Given the description of an element on the screen output the (x, y) to click on. 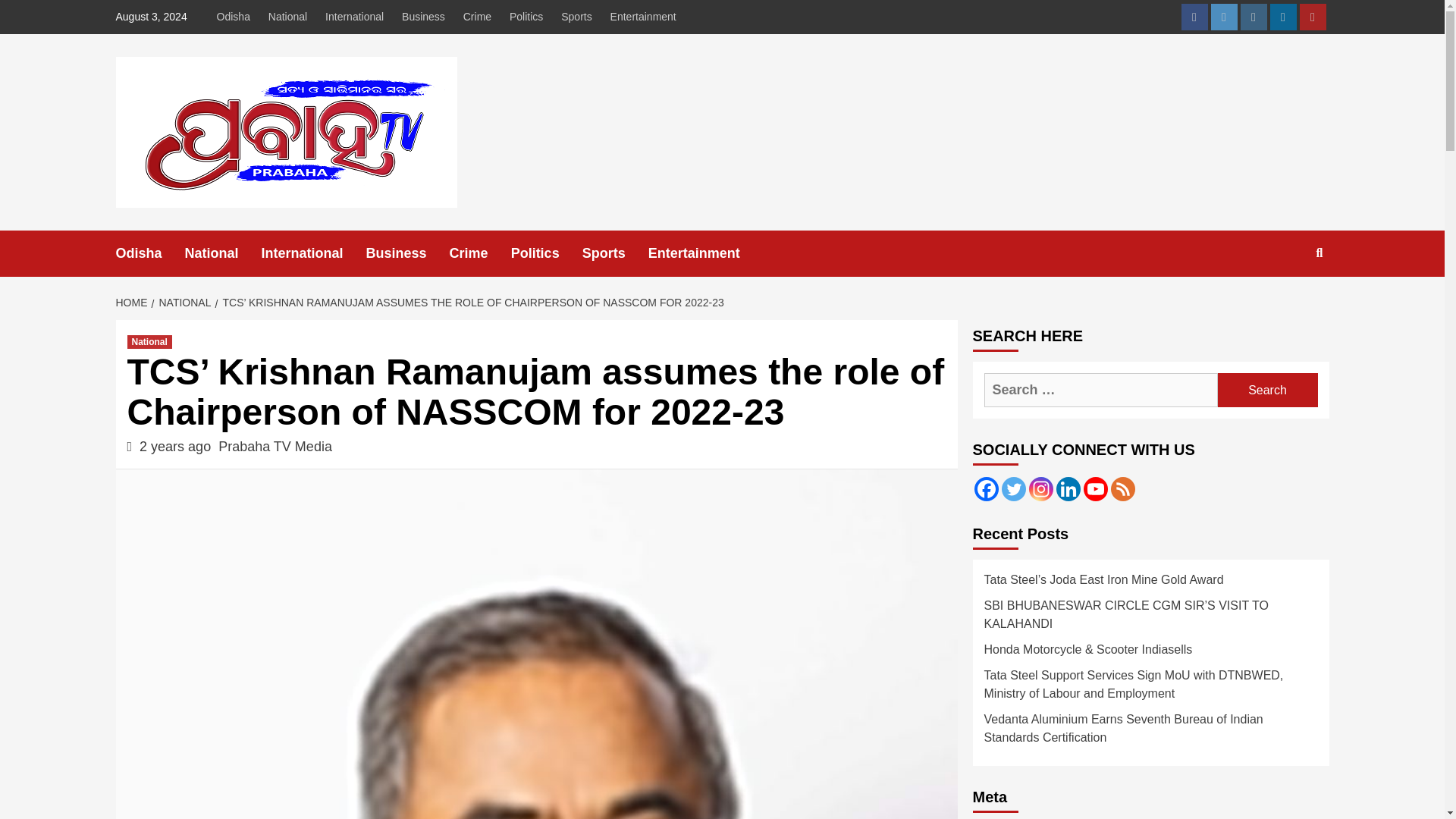
LinkedIN (1282, 17)
Instagram (1253, 17)
National (149, 341)
International (314, 253)
National (287, 17)
Entertainment (643, 17)
Politics (546, 253)
Youtube (1313, 17)
Search (1267, 390)
International (354, 17)
Odisha (149, 253)
Sports (614, 253)
Business (407, 253)
National (223, 253)
Odisha (236, 17)
